Given the description of an element on the screen output the (x, y) to click on. 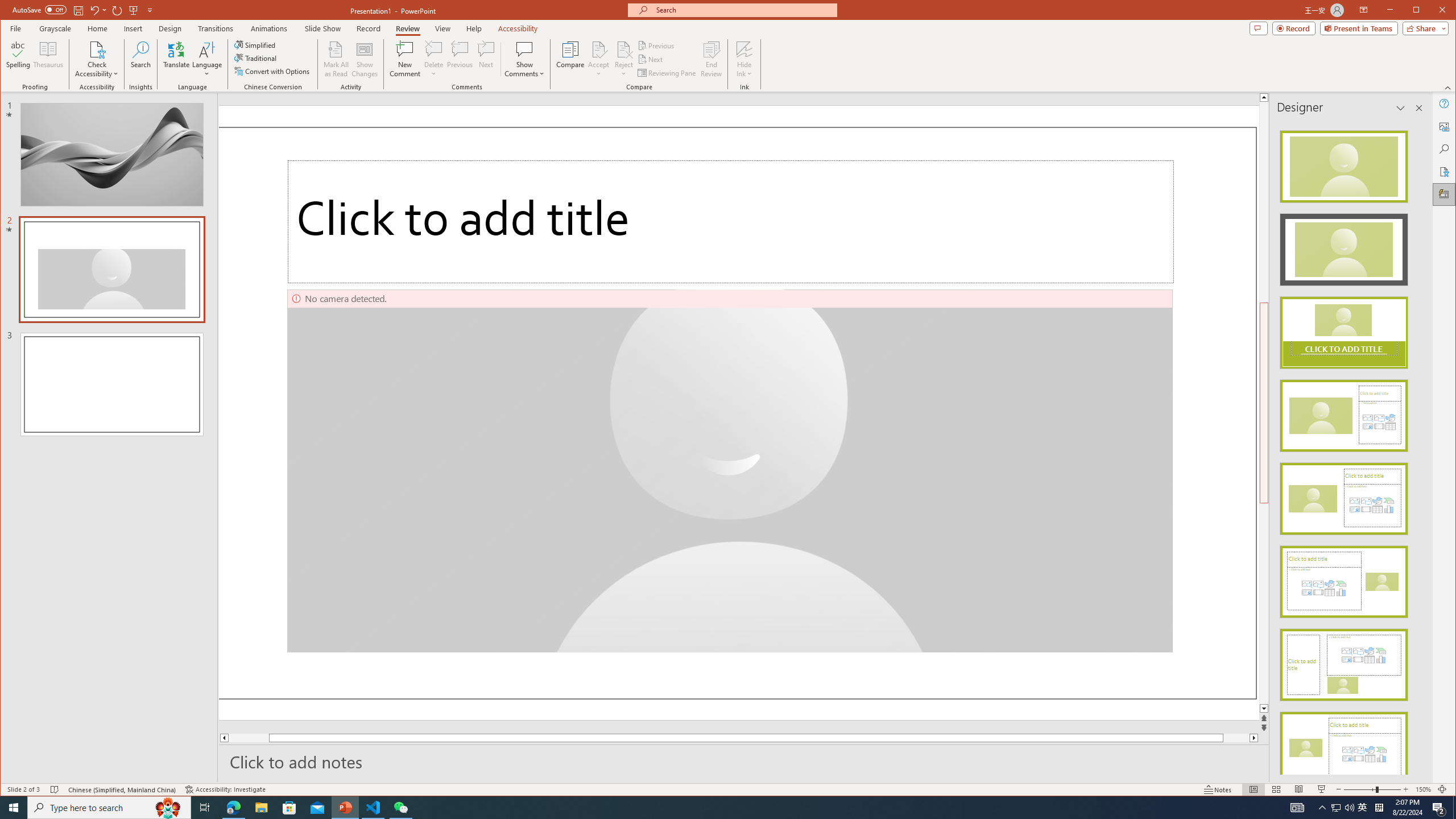
WeChat - 1 running window (400, 807)
End Review (710, 59)
Accept (598, 59)
Convert with Options... (272, 70)
Reject (623, 59)
Show Changes (365, 59)
